Given the description of an element on the screen output the (x, y) to click on. 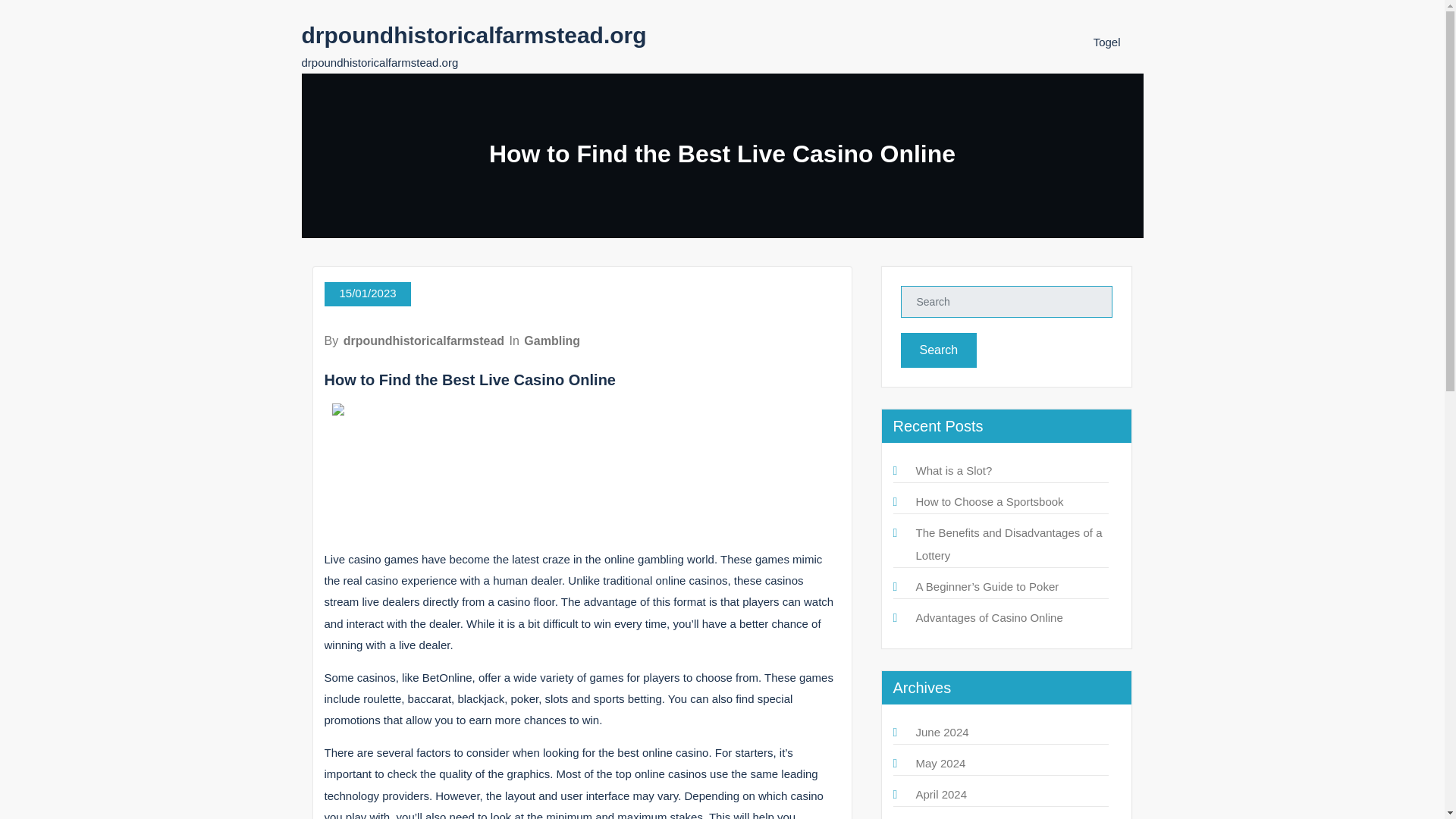
May 2024 (940, 762)
Search (938, 349)
Gambling (551, 340)
June 2024 (942, 731)
The Benefits and Disadvantages of a Lottery (1008, 543)
drpoundhistoricalfarmstead (423, 340)
drpoundhistoricalfarmstead.org (473, 34)
What is a Slot? (953, 470)
Advantages of Casino Online (988, 617)
April 2024 (941, 793)
